Given the description of an element on the screen output the (x, y) to click on. 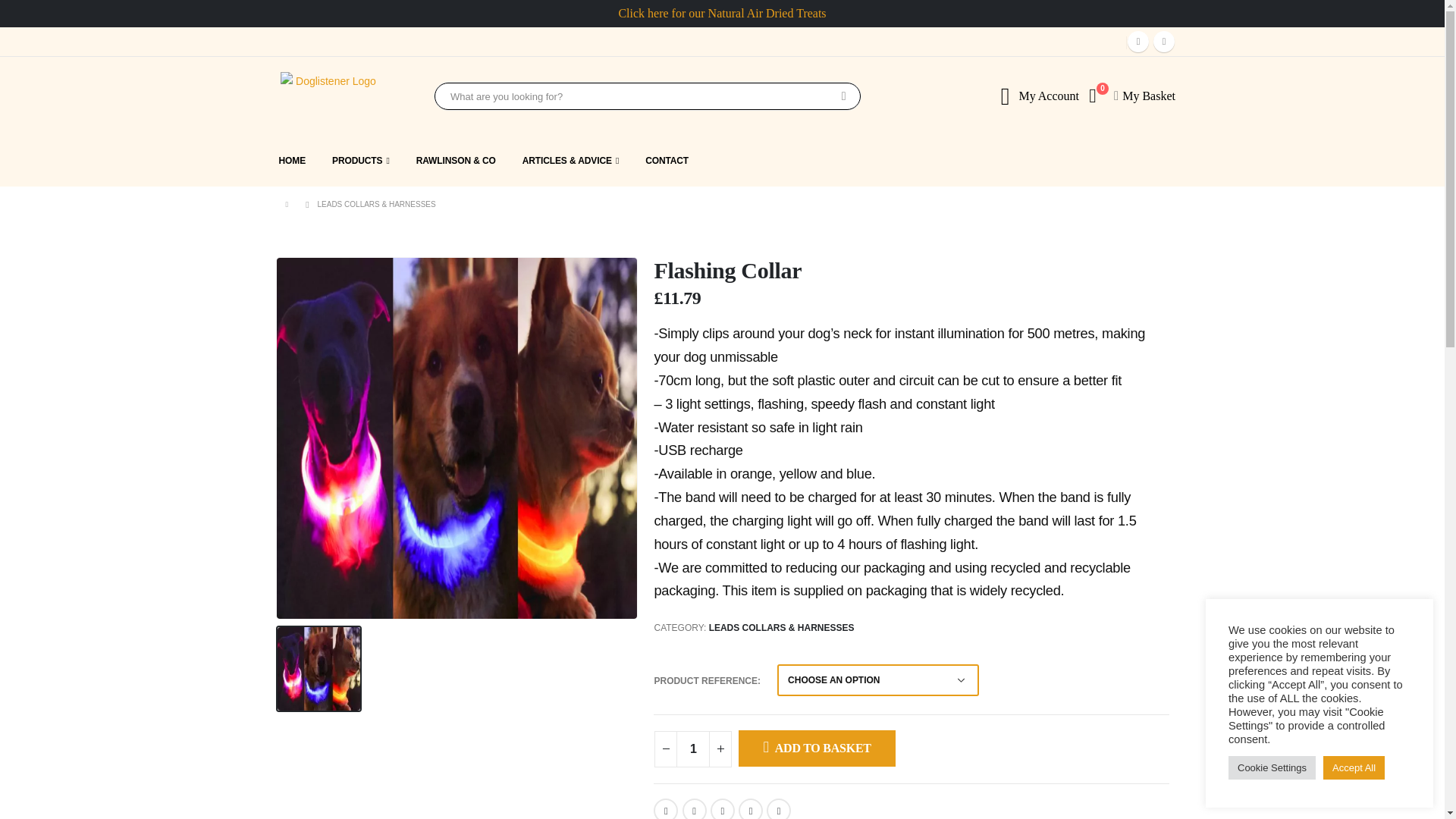
Search (843, 95)
1 (693, 749)
My Account (1047, 95)
Facebook (1137, 41)
Click here for our Natural Air Dried Treats (721, 12)
My Basket (1148, 95)
PRODUCTS (360, 160)
Qty (693, 749)
800 2 (456, 438)
HOME (298, 160)
Instagram (1163, 41)
